Given the description of an element on the screen output the (x, y) to click on. 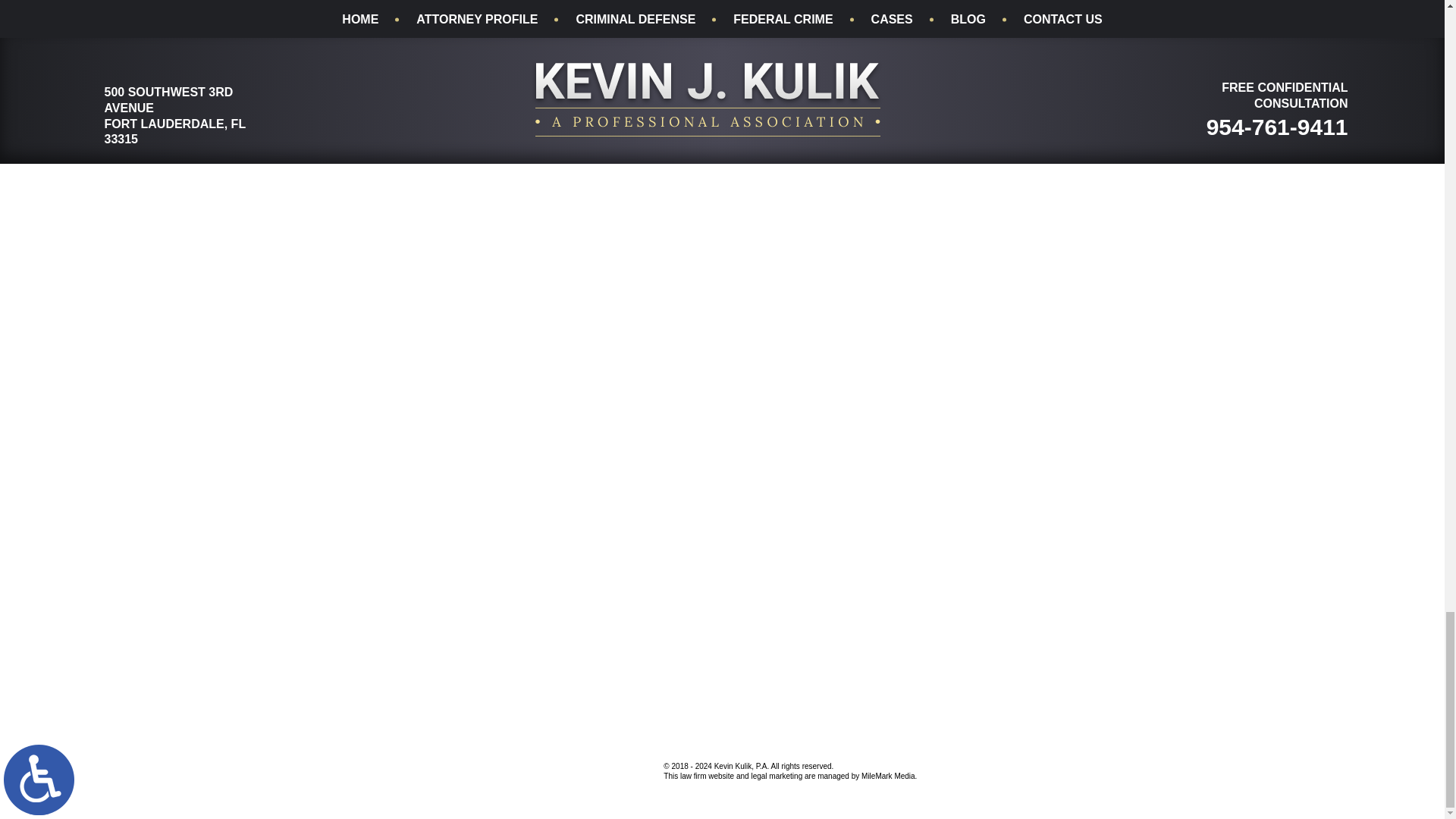
MileMark Media (590, 765)
